Given the description of an element on the screen output the (x, y) to click on. 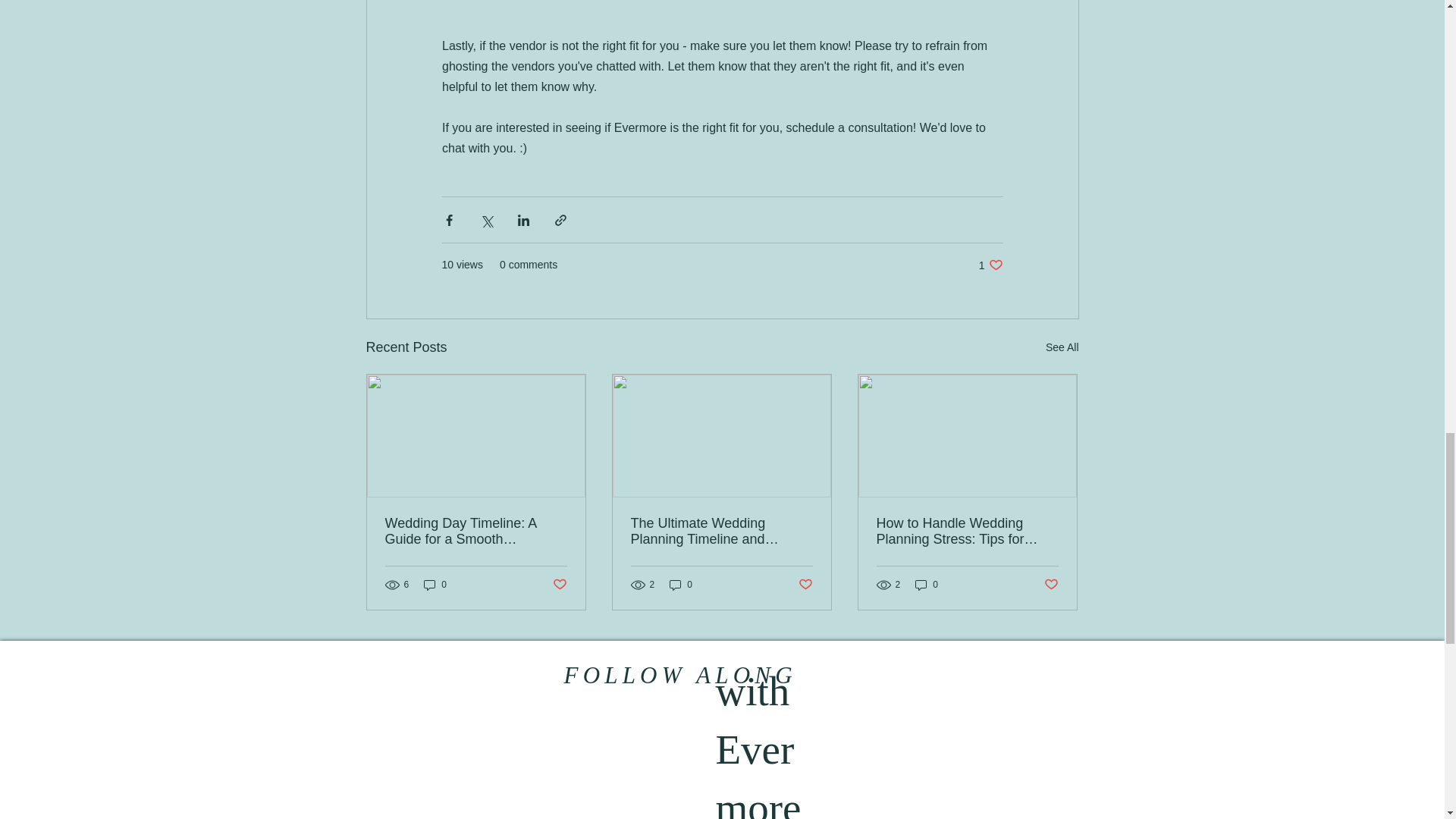
0 (435, 585)
Post not marked as liked (804, 584)
Post not marked as liked (990, 264)
0 (558, 584)
See All (681, 585)
Post not marked as liked (1061, 347)
0 (1050, 584)
Wedding Day Timeline: A Guide for a Smooth Celebration (926, 585)
How to Handle Wedding Planning Stress: Tips for Staying Zen (476, 531)
